Given the description of an element on the screen output the (x, y) to click on. 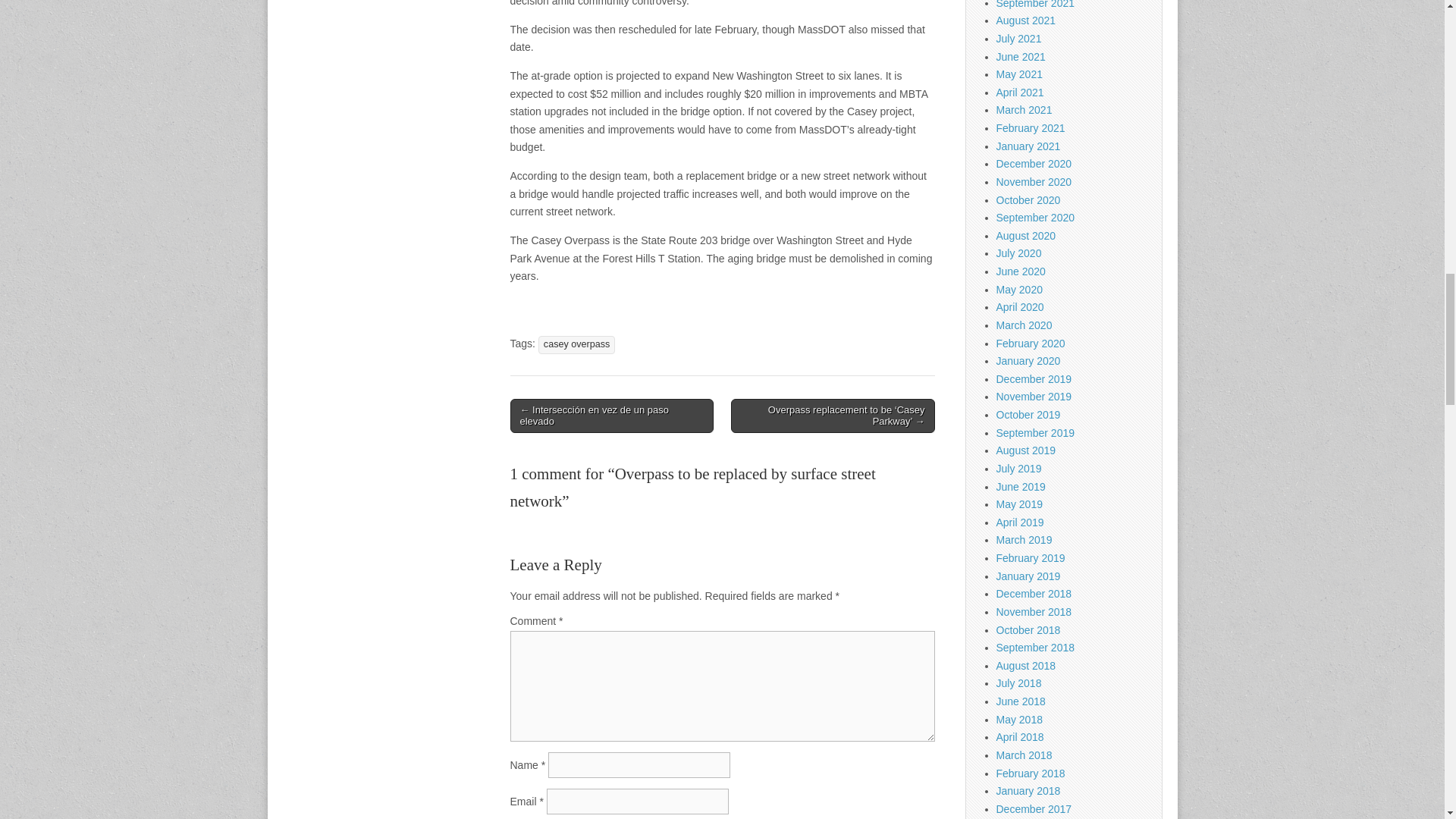
casey overpass (576, 343)
